Given the description of an element on the screen output the (x, y) to click on. 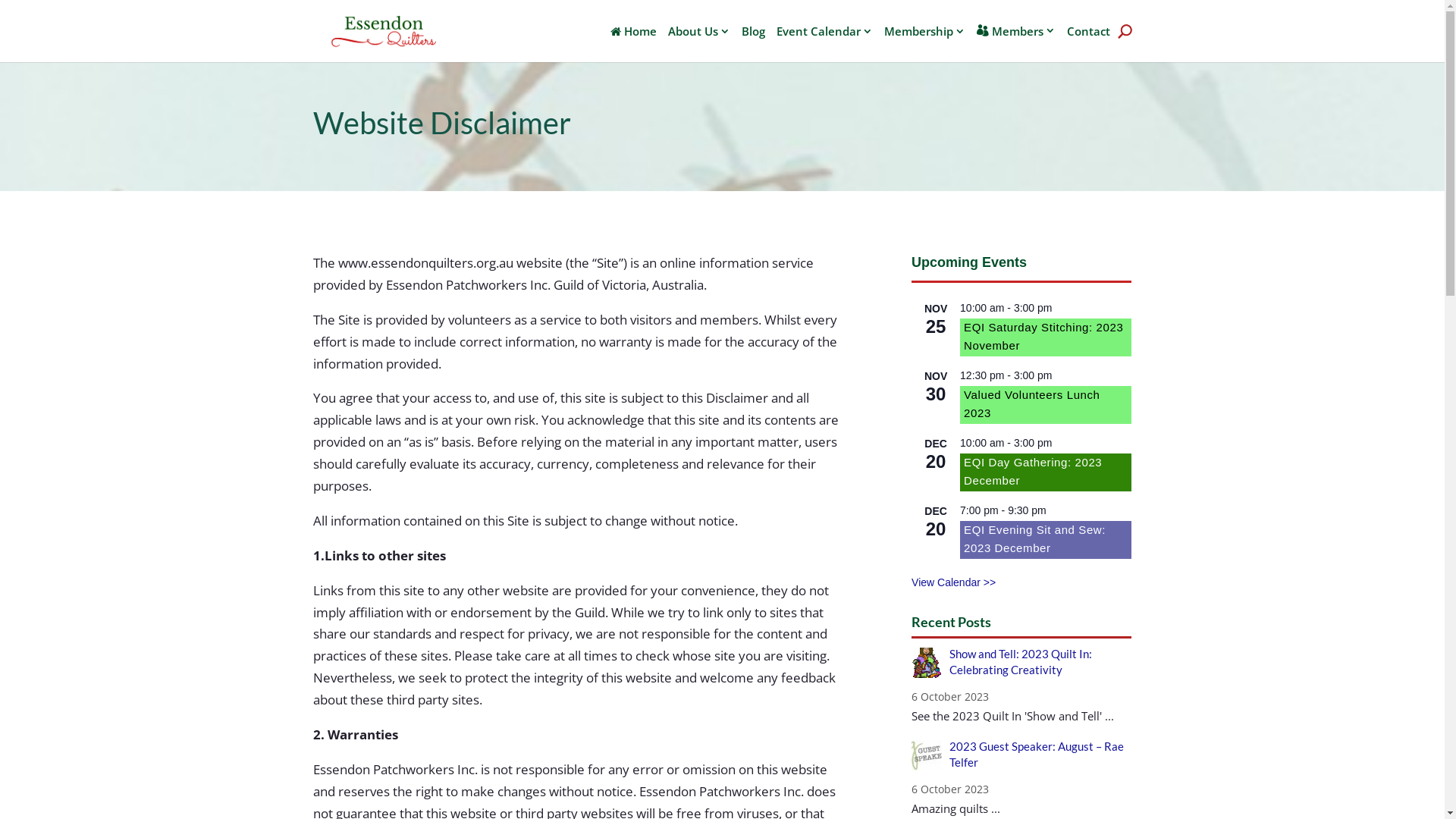
EQI Day Gathering: 2023 December Element type: text (1032, 471)
Contact Element type: text (1087, 43)
Membership Element type: text (924, 43)
About Us Element type: text (698, 43)
Valued Volunteers Lunch 2023 Element type: text (1031, 404)
EQI Saturday Stitching: 2023 November Element type: text (1043, 336)
View Calendar Element type: text (953, 582)
EQI Evening Sit and Sew: 2023 December Element type: text (1034, 539)
Show and Tell: 2023 Quilt In: Celebrating Creativity Element type: text (1020, 661)
Members Element type: text (1015, 43)
Blog Element type: text (753, 43)
Home Element type: text (632, 43)
Event Calendar Element type: text (824, 43)
